Given the description of an element on the screen output the (x, y) to click on. 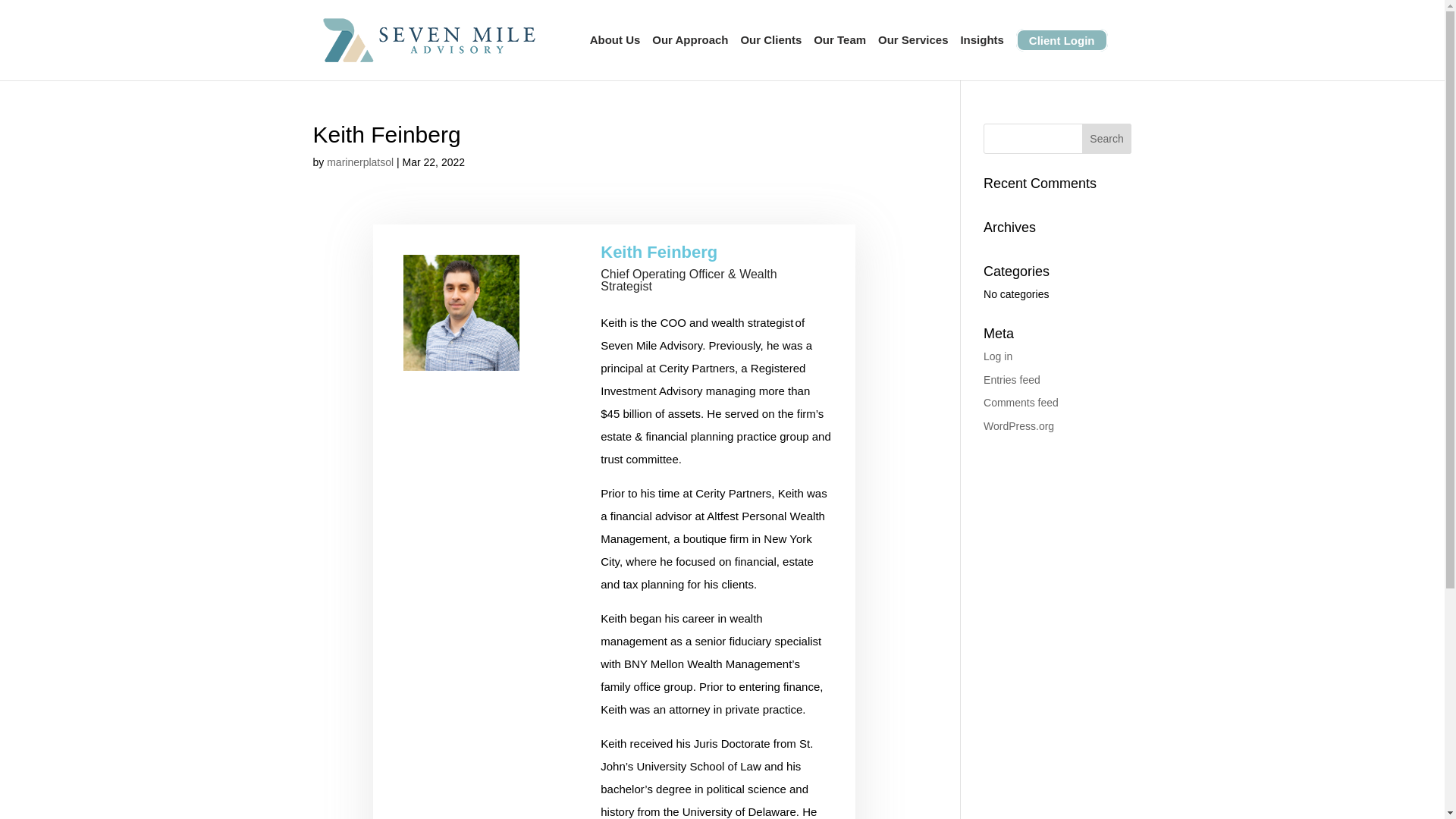
Entries feed (1012, 379)
Log in (997, 356)
About Us (614, 55)
Client Login (1069, 55)
Insights (981, 55)
WordPress.org (1019, 426)
Comments feed (1021, 402)
Our Approach (690, 55)
marinerplatsol (359, 162)
Search (1106, 138)
Our Team (839, 55)
Our Services (913, 55)
Our Clients (770, 55)
Search (1106, 138)
Posts by marinerplatsol (359, 162)
